Given the description of an element on the screen output the (x, y) to click on. 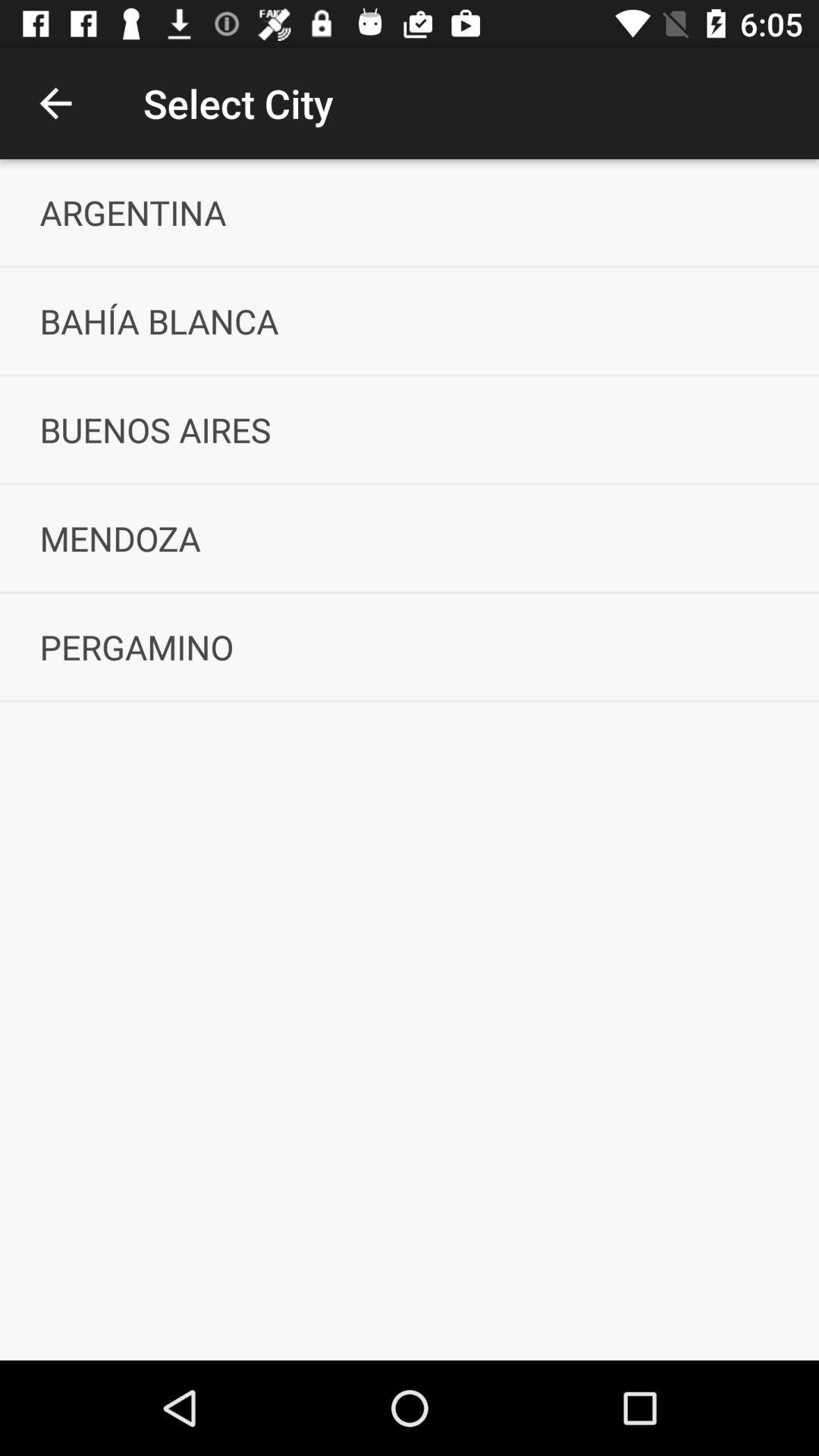
turn off the icon below mendoza icon (409, 646)
